Given the description of an element on the screen output the (x, y) to click on. 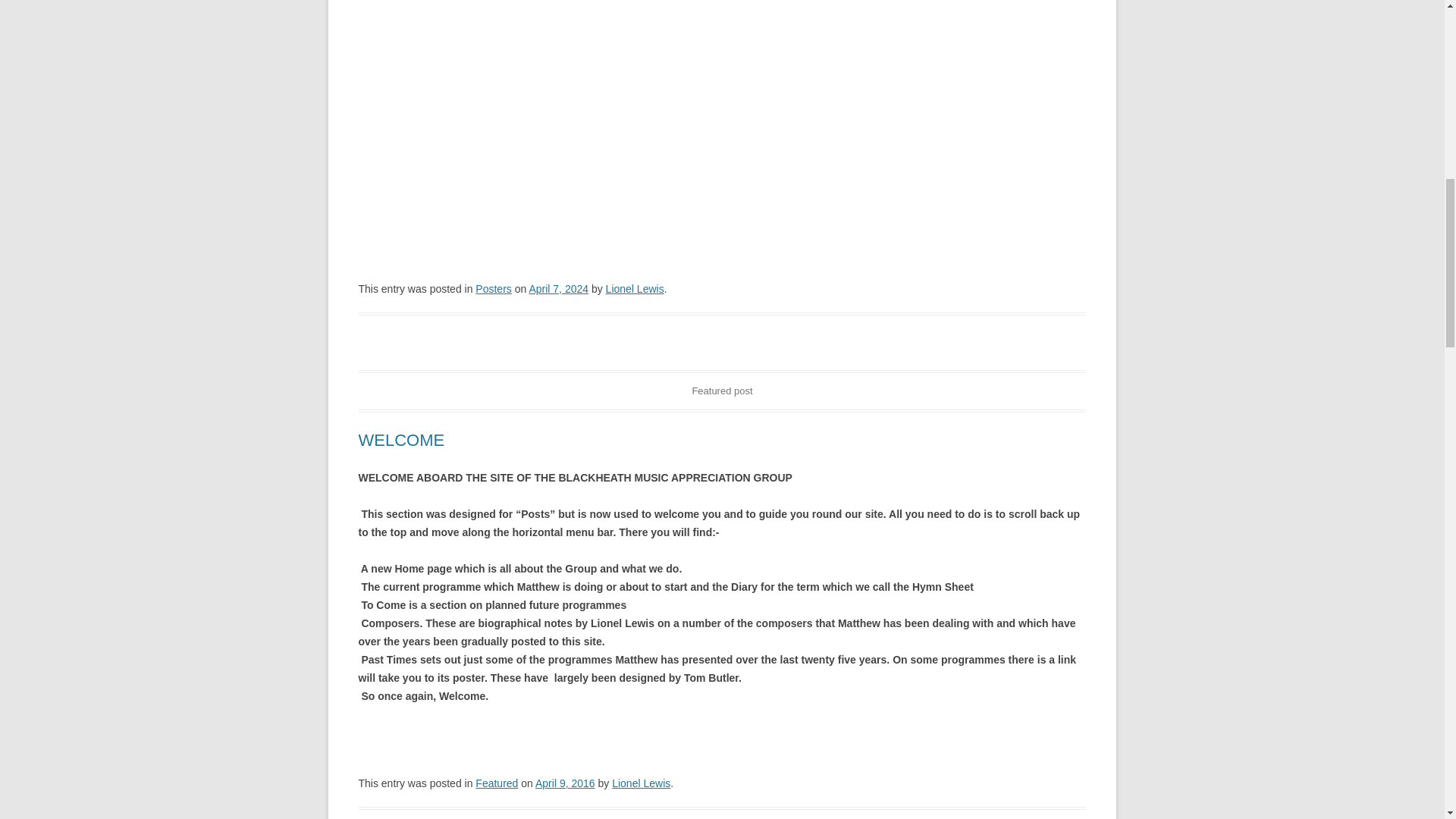
2:56 pm (565, 783)
Featured (497, 783)
WELCOME (401, 439)
Posters (493, 288)
Lionel Lewis (634, 288)
April 9, 2016 (565, 783)
View all posts by Lionel Lewis (640, 783)
April 7, 2024 (558, 288)
View all posts by Lionel Lewis (634, 288)
